Given the description of an element on the screen output the (x, y) to click on. 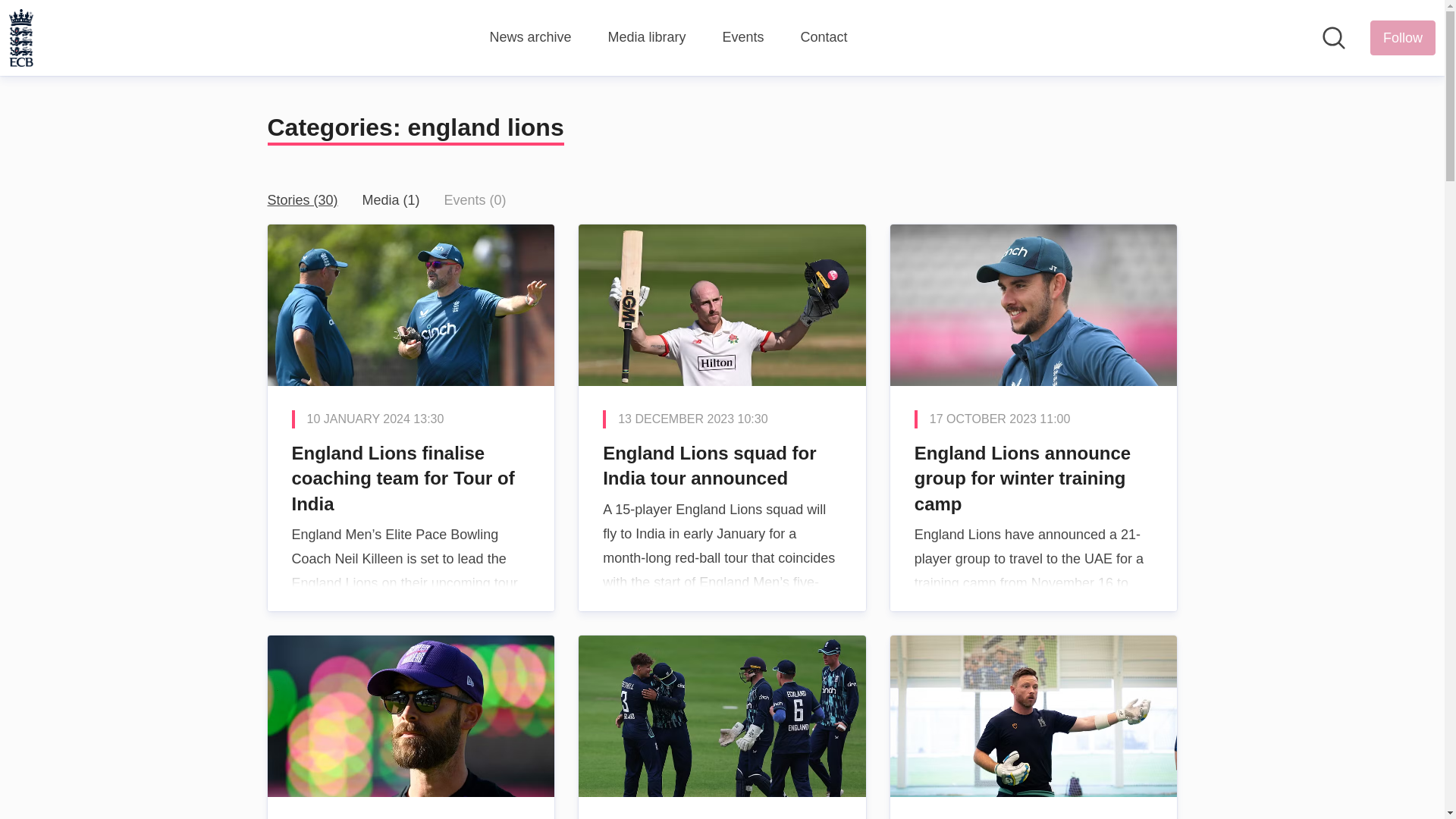
Trio appointed to England Men's scouting team (410, 727)
Follow (1402, 37)
News archive (529, 37)
Contact (823, 37)
Events (742, 37)
Media library (646, 37)
England Lions announce coaching team for UAE training camp (1033, 727)
Search in newsroom (1333, 37)
